Given the description of an element on the screen output the (x, y) to click on. 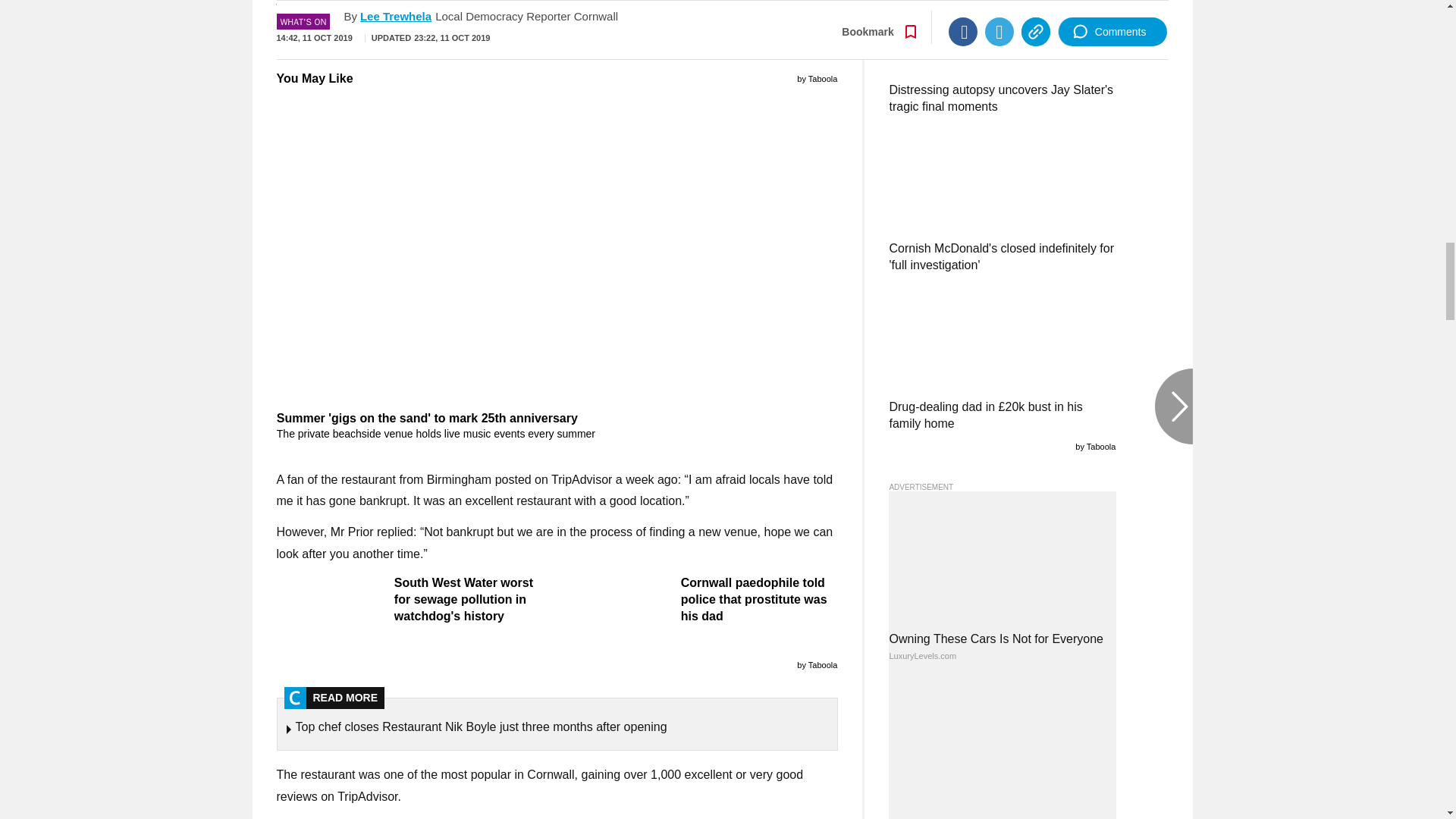
Summer 'gigs on the sand' to mark 25th anniversary (557, 425)
